Given the description of an element on the screen output the (x, y) to click on. 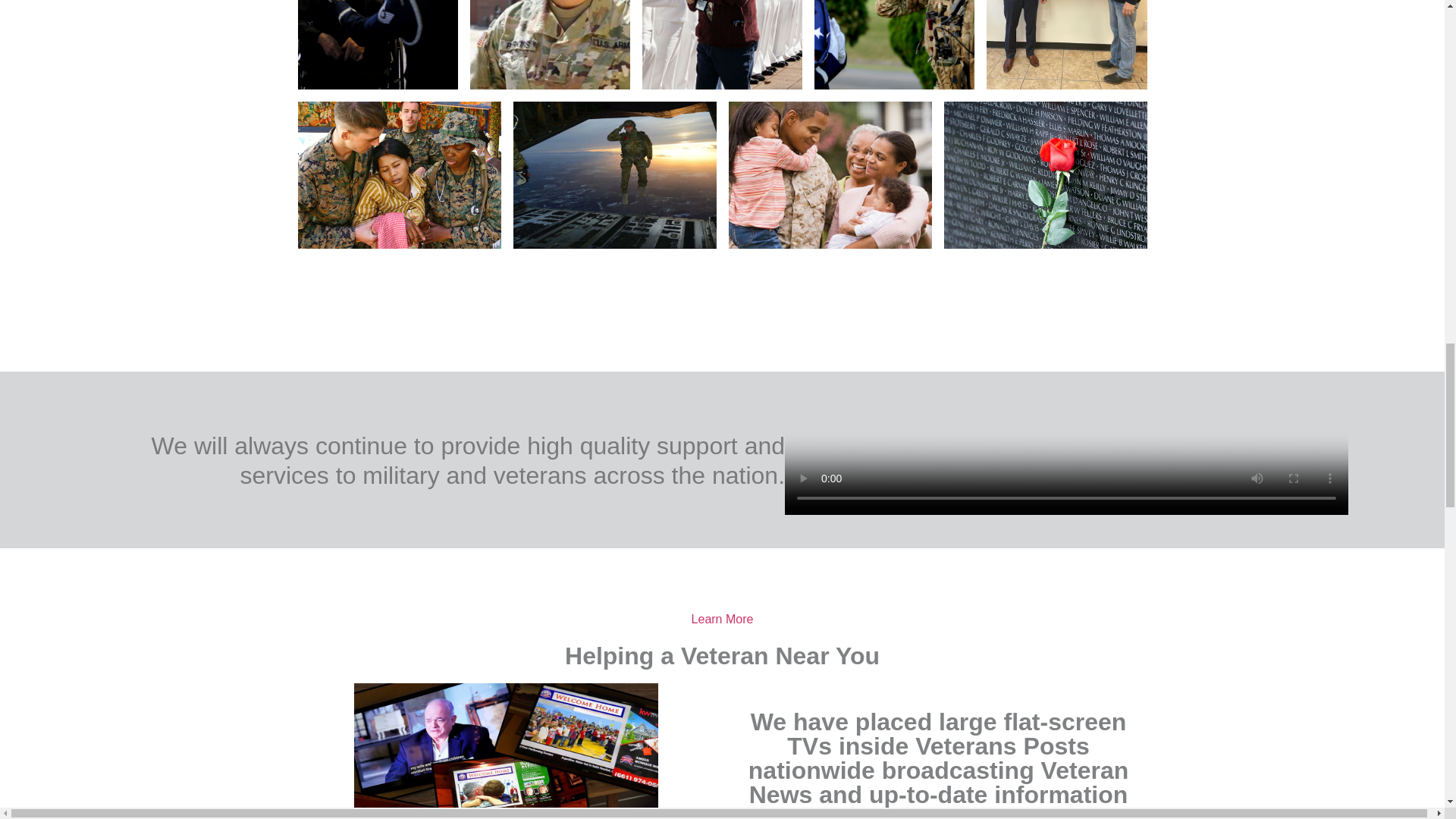
Learn More (722, 619)
